Given the description of an element on the screen output the (x, y) to click on. 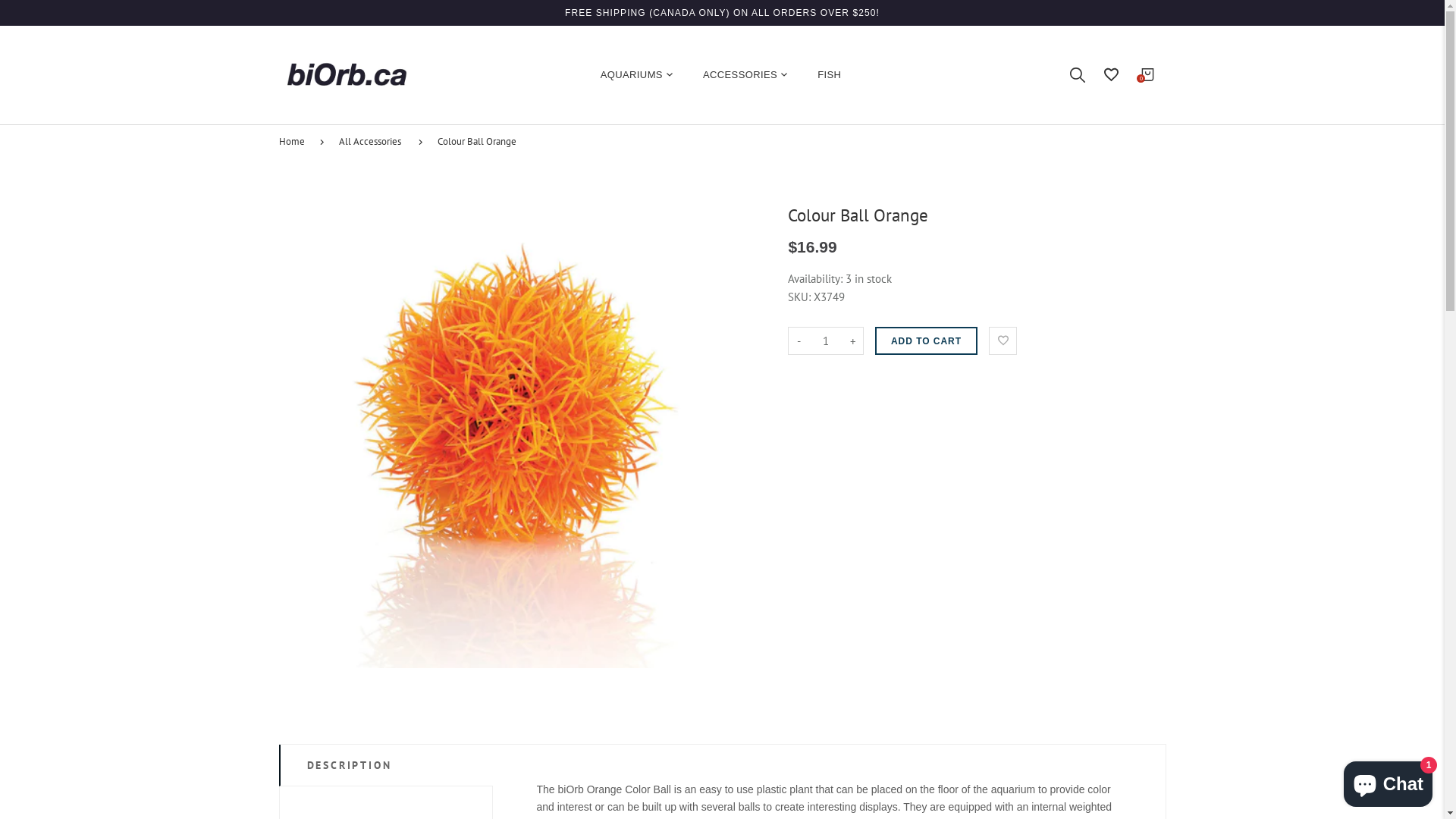
ADD TO CART Element type: text (926, 340)
ACCESSORIES Element type: text (744, 74)
0 Element type: text (1147, 74)
All Accessories Element type: text (376, 141)
Colour Ball Orange Element type: text (483, 141)
Add to Wishlist Element type: hover (1002, 340)
FISH Element type: text (821, 74)
Home Element type: text (299, 141)
AQUARIUMS Element type: text (636, 74)
Shopify online store chat Element type: hover (1388, 780)
DESCRIPTION Element type: text (386, 764)
